Given the description of an element on the screen output the (x, y) to click on. 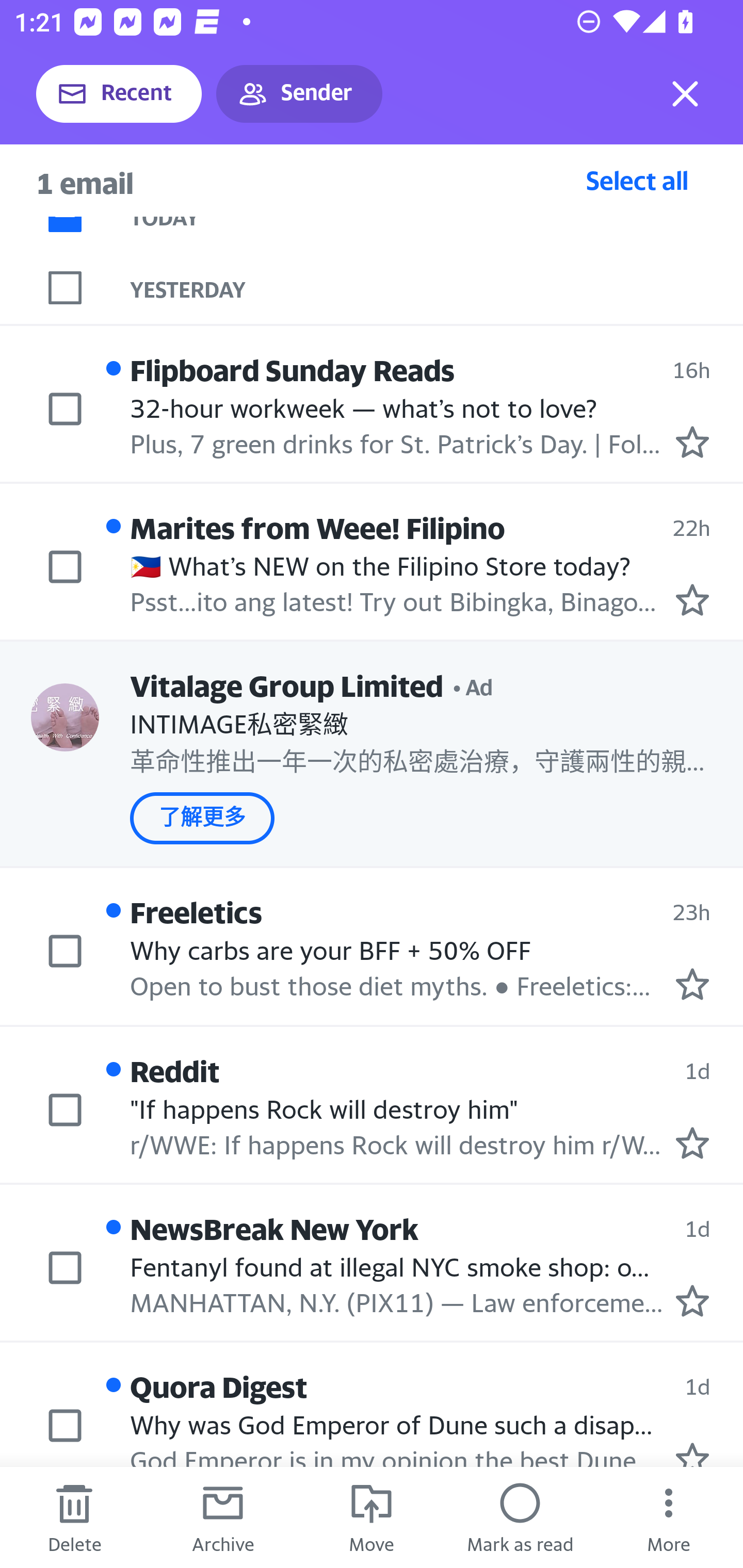
Sender (299, 93)
Exit selection mode (684, 93)
Select all (637, 180)
YESTERDAY (436, 287)
Mark as starred. (692, 441)
Mark as starred. (692, 599)
Mark as starred. (692, 983)
Mark as starred. (692, 1142)
Mark as starred. (692, 1300)
Mark as starred. (692, 1453)
Delete (74, 1517)
Archive (222, 1517)
Move (371, 1517)
Mark as read (519, 1517)
More (668, 1517)
